Given the description of an element on the screen output the (x, y) to click on. 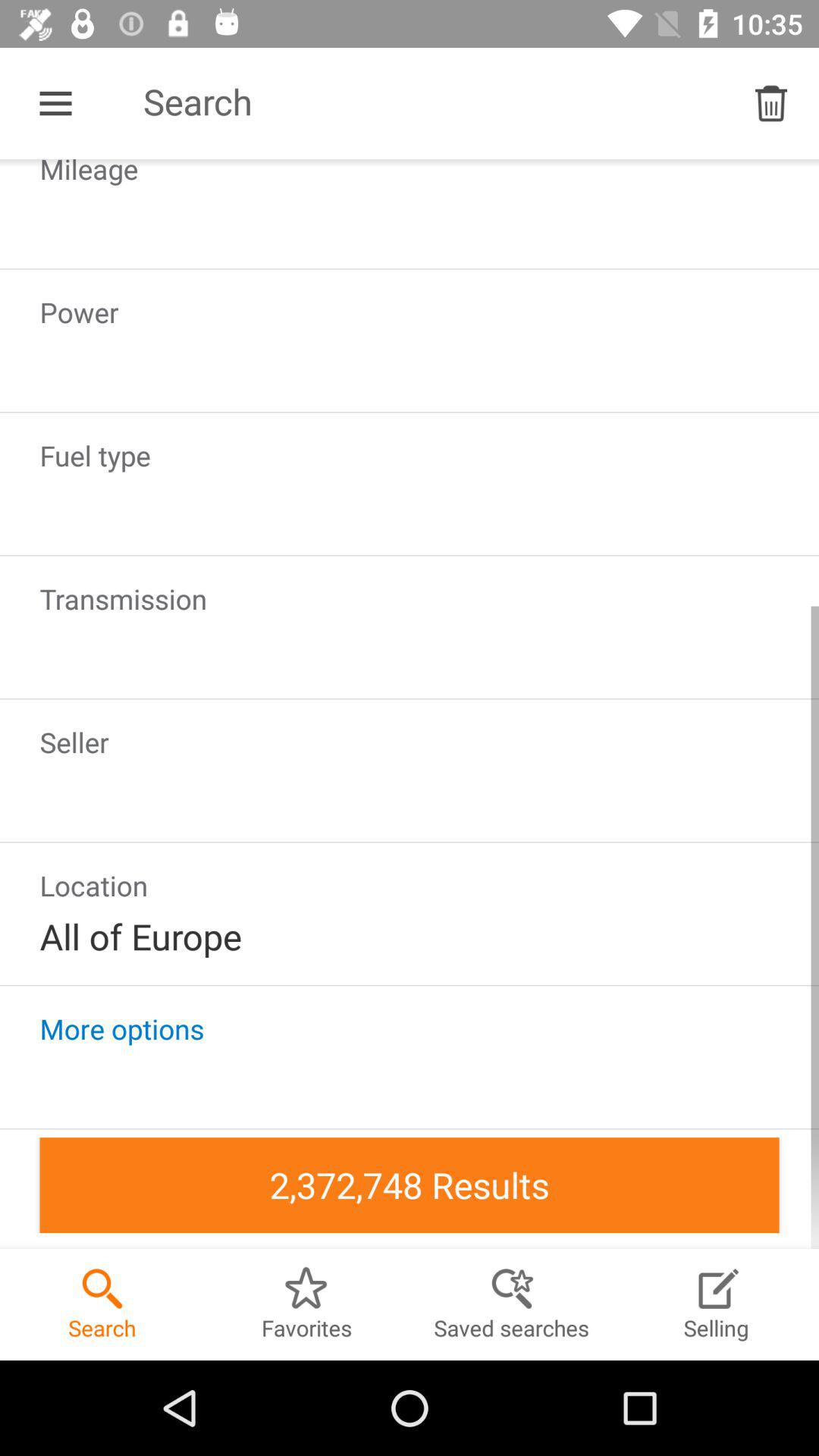
tap item next to search icon (771, 103)
